Given the description of an element on the screen output the (x, y) to click on. 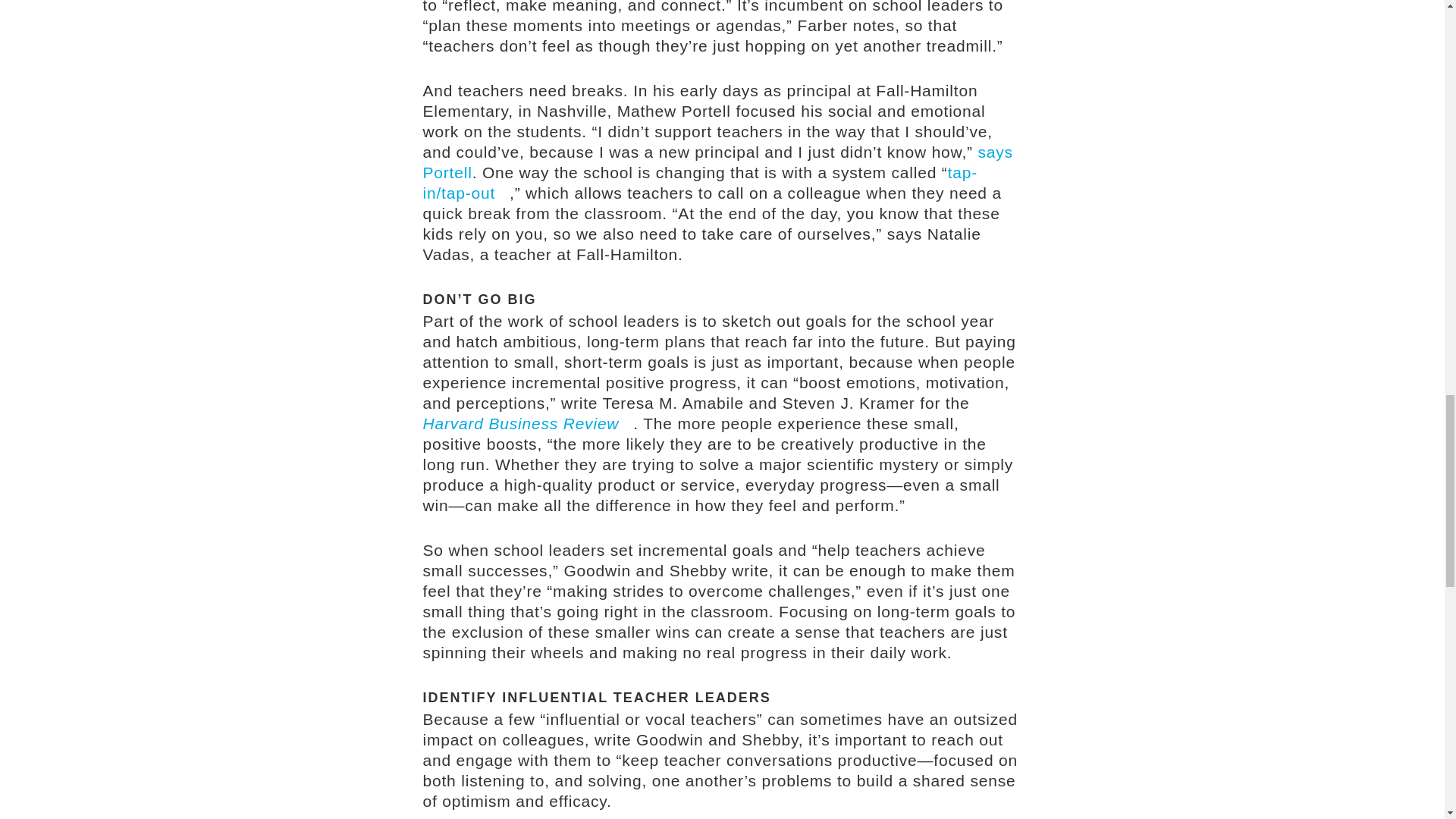
Harvard Business Review (528, 423)
says Portell (718, 161)
